Given the description of an element on the screen output the (x, y) to click on. 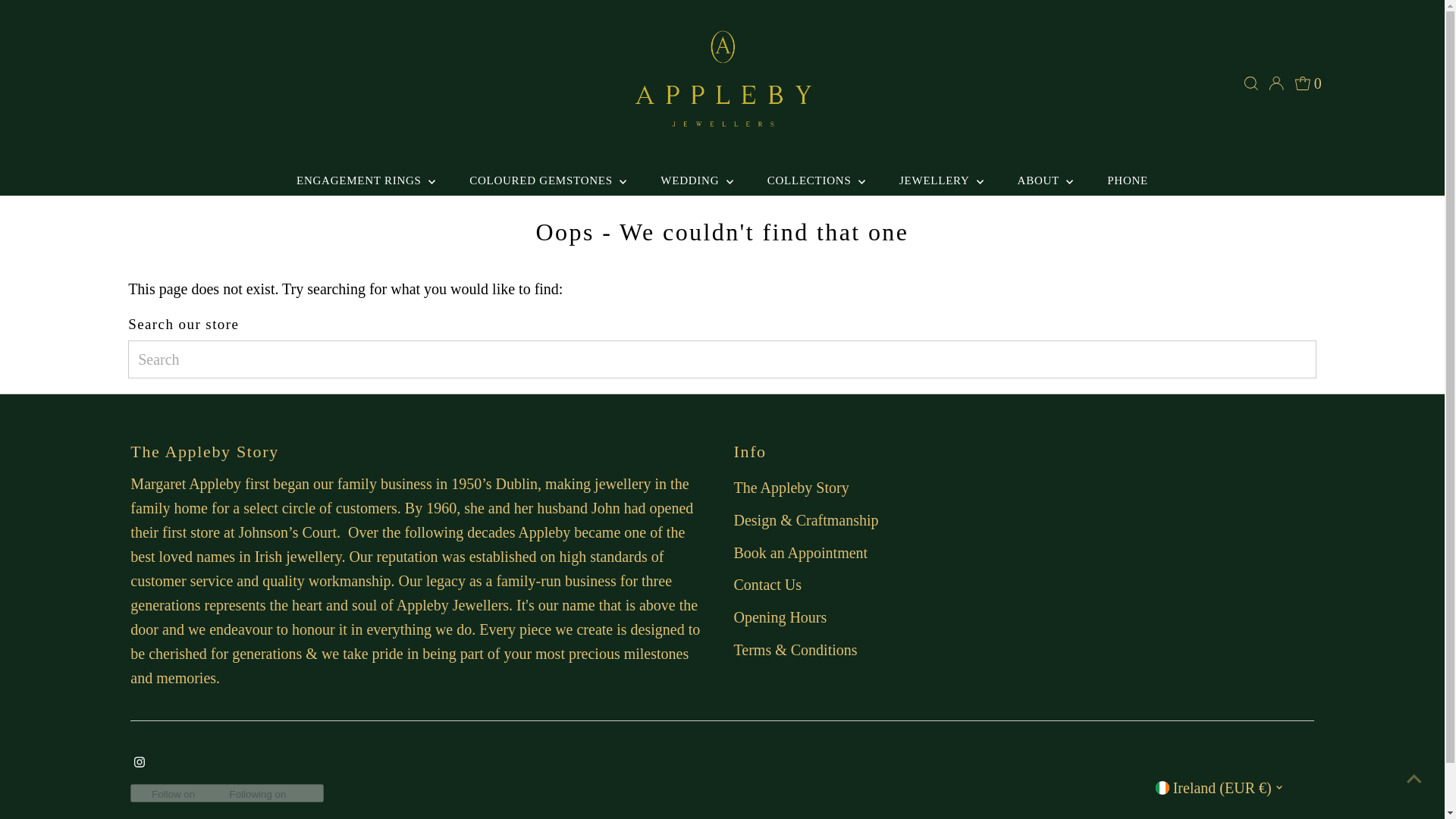
Skip to content (60, 18)
0 (1308, 83)
